Given the description of an element on the screen output the (x, y) to click on. 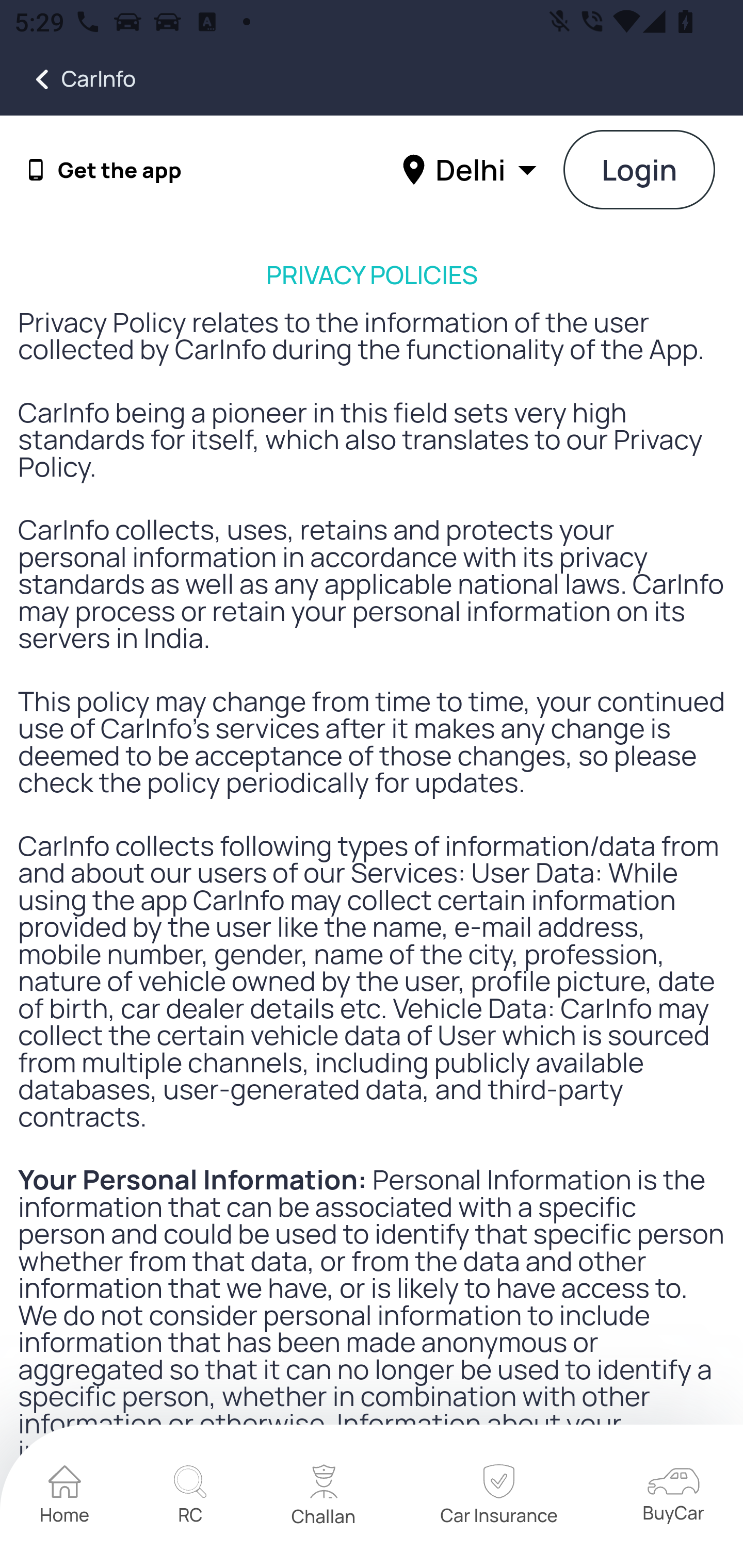
CarInfo (67, 79)
Login (639, 170)
Delhi (471, 169)
Get the app (119, 170)
home Challan home Challan (323, 1496)
home Home home Home (64, 1496)
home RC home RC (190, 1496)
home Car Insurance home Car Insurance (497, 1497)
home BuyCar home BuyCar (672, 1496)
